Given the description of an element on the screen output the (x, y) to click on. 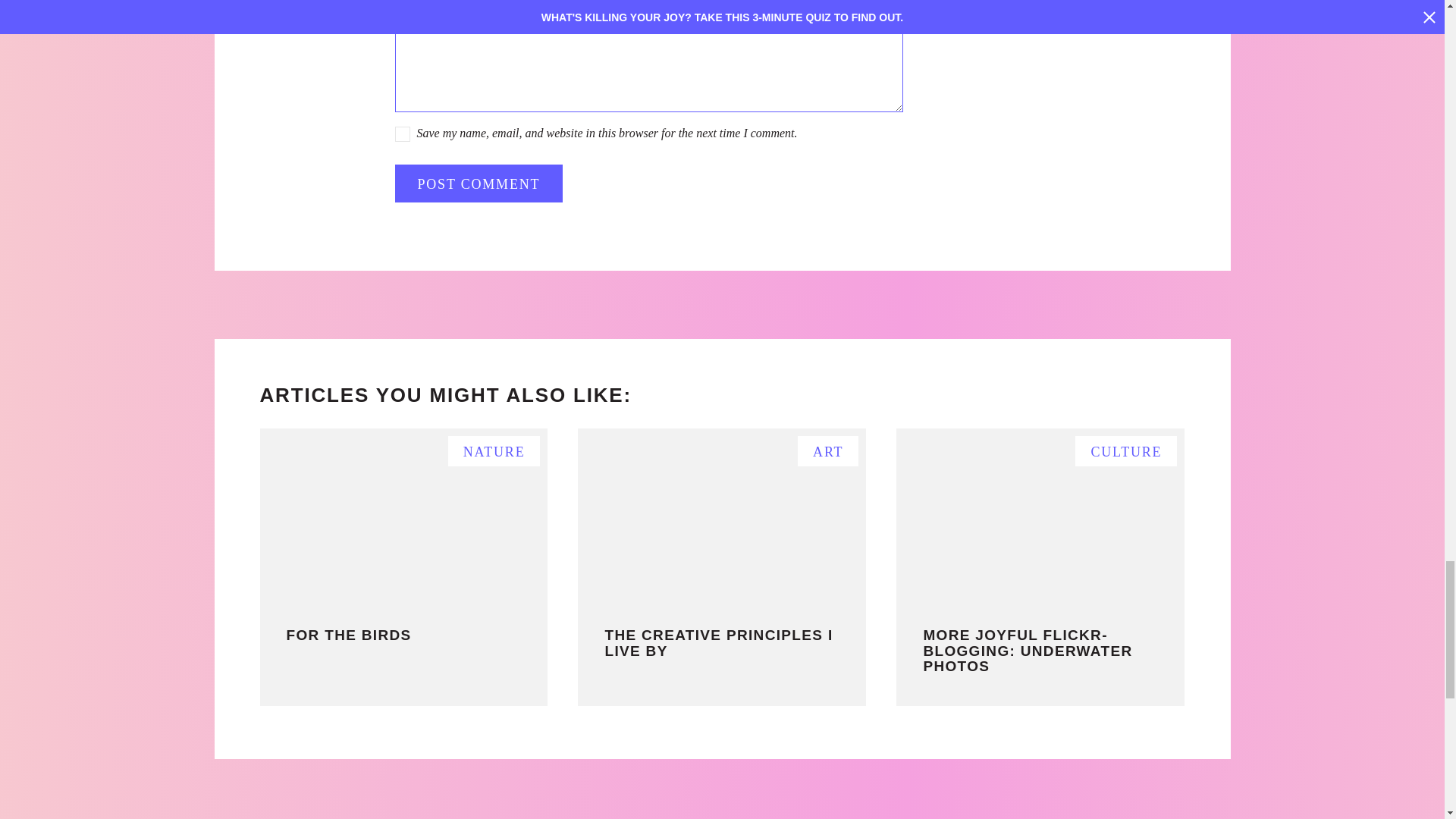
yes (401, 133)
Post Comment (478, 183)
